Given the description of an element on the screen output the (x, y) to click on. 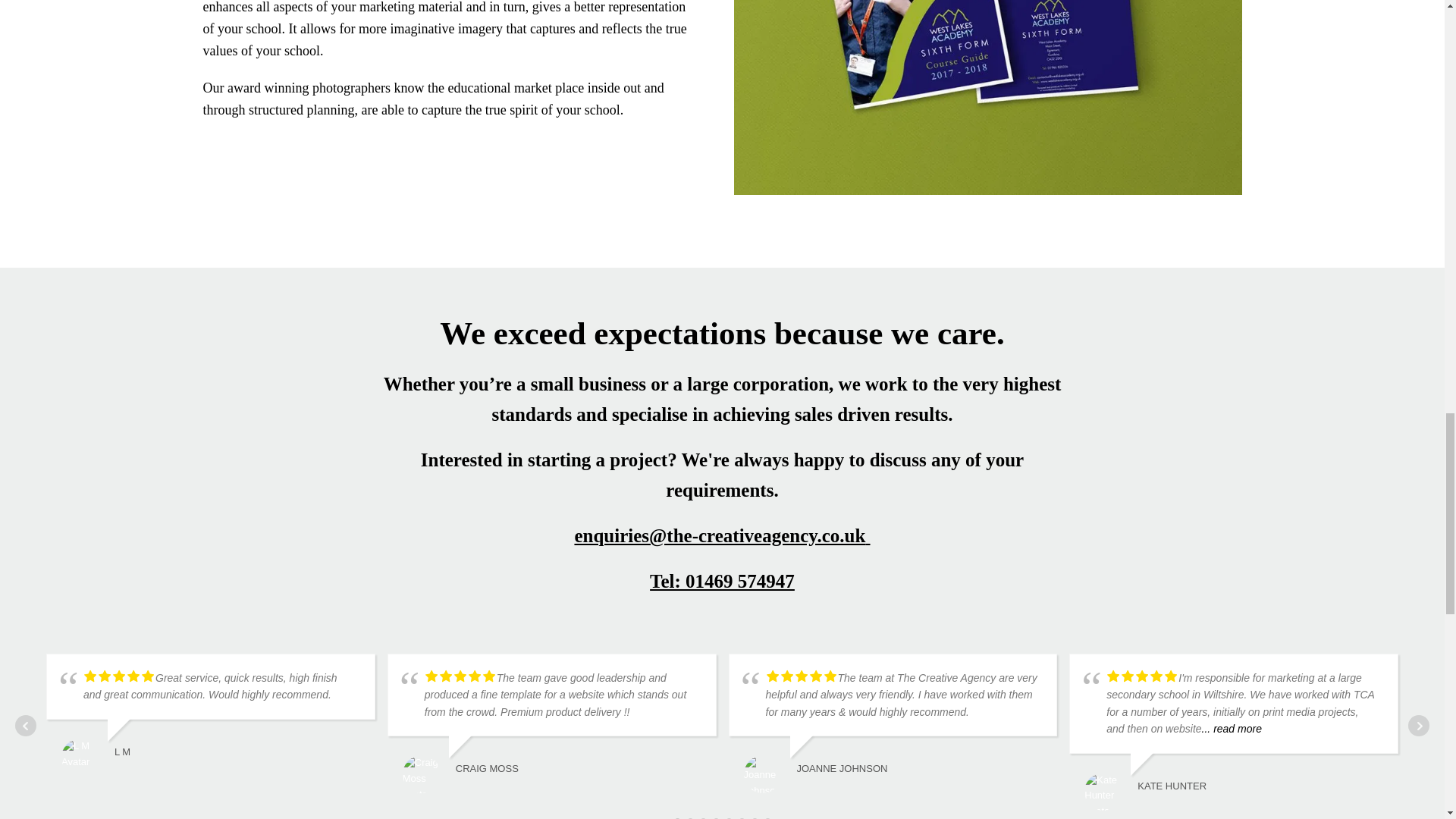
Tel: 01469 574947 (721, 573)
... read more (1232, 728)
